Given the description of an element on the screen output the (x, y) to click on. 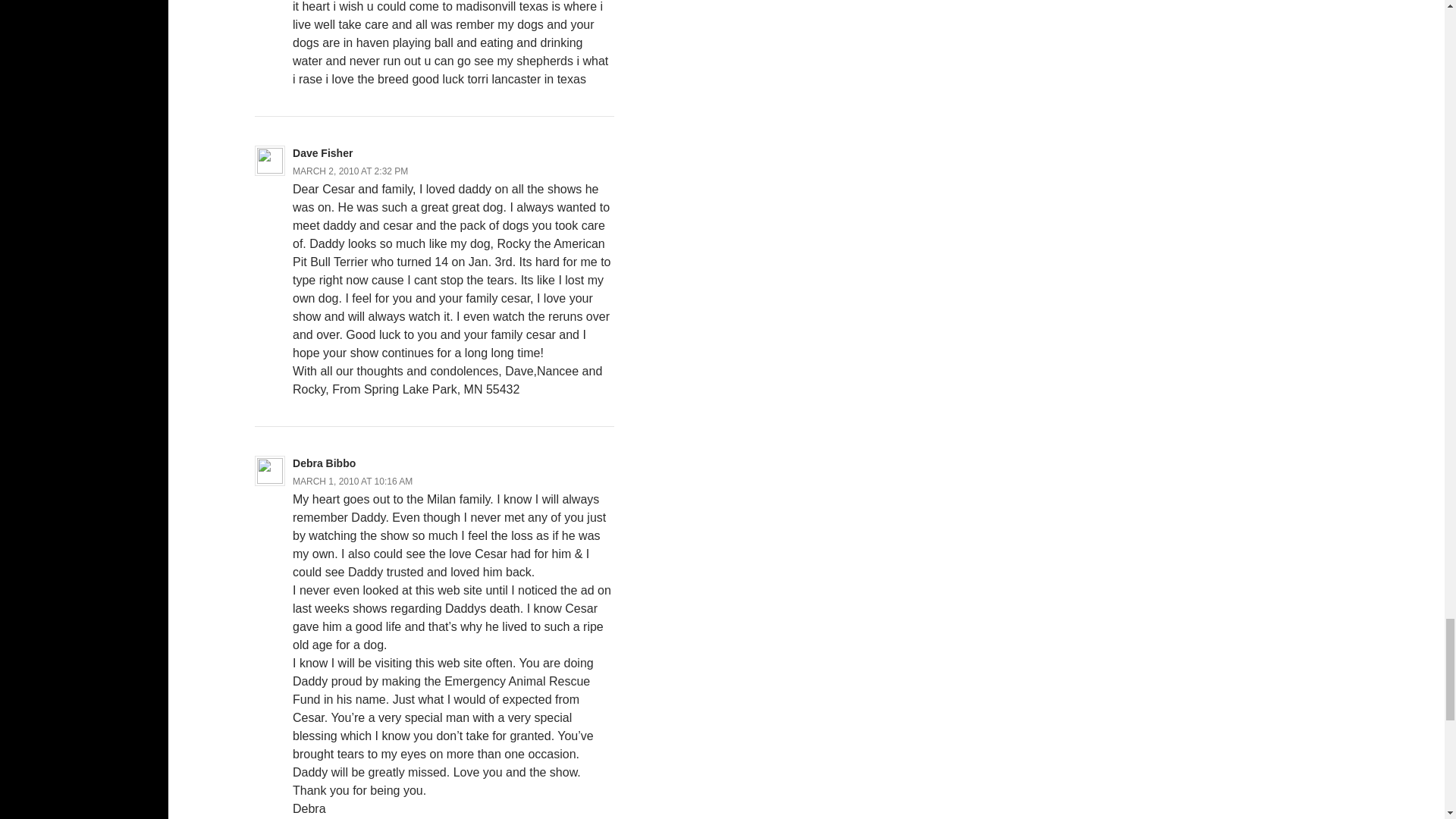
MARCH 2, 2010 AT 2:32 PM (349, 171)
